Given the description of an element on the screen output the (x, y) to click on. 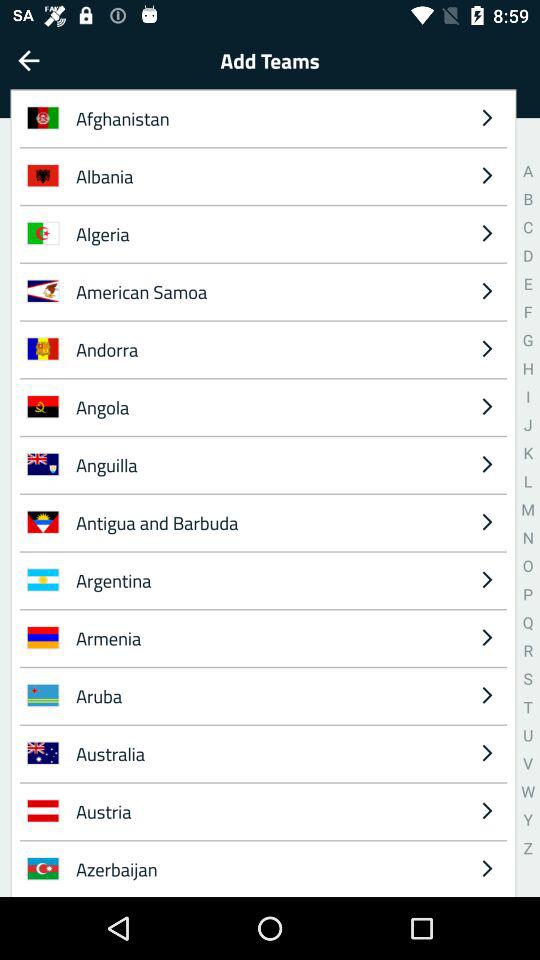
click on the aruba flag (43, 694)
